Given the description of an element on the screen output the (x, y) to click on. 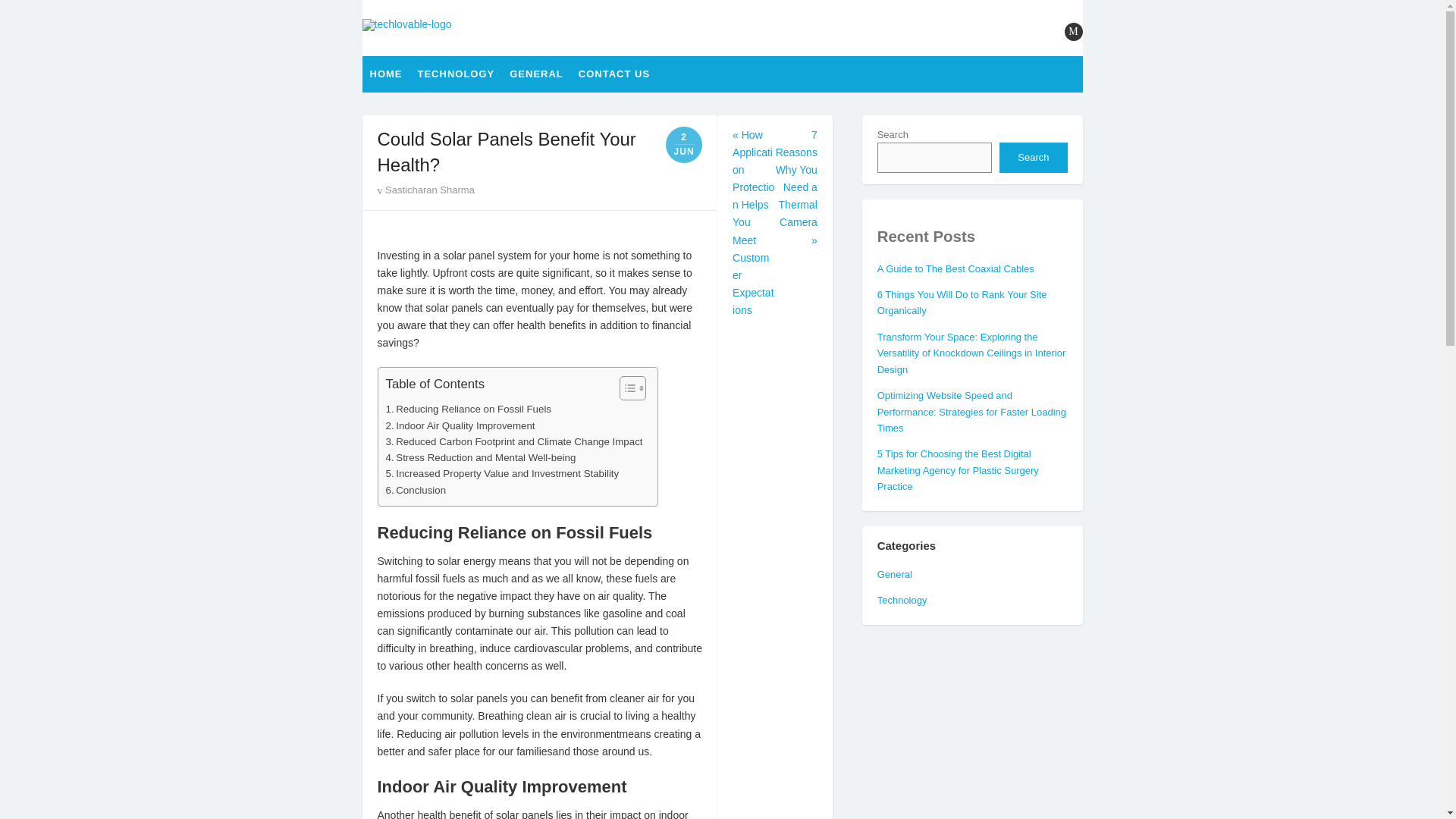
6 Things You Will Do to Rank Your Site Organically (961, 302)
Indoor Air Quality Improvement (459, 425)
Reduced Carbon Footprint and Climate Change Impact (513, 441)
A Guide to The Best Coaxial Cables (955, 268)
Indoor Air Quality Improvement (459, 425)
HOME (386, 74)
General (894, 573)
Conclusion (415, 489)
Search (1032, 157)
Increased Property Value and Investment Stability (501, 473)
Reducing Reliance on Fossil Fuels (468, 408)
Stress Reduction and Mental Well-being (480, 457)
